Given the description of an element on the screen output the (x, y) to click on. 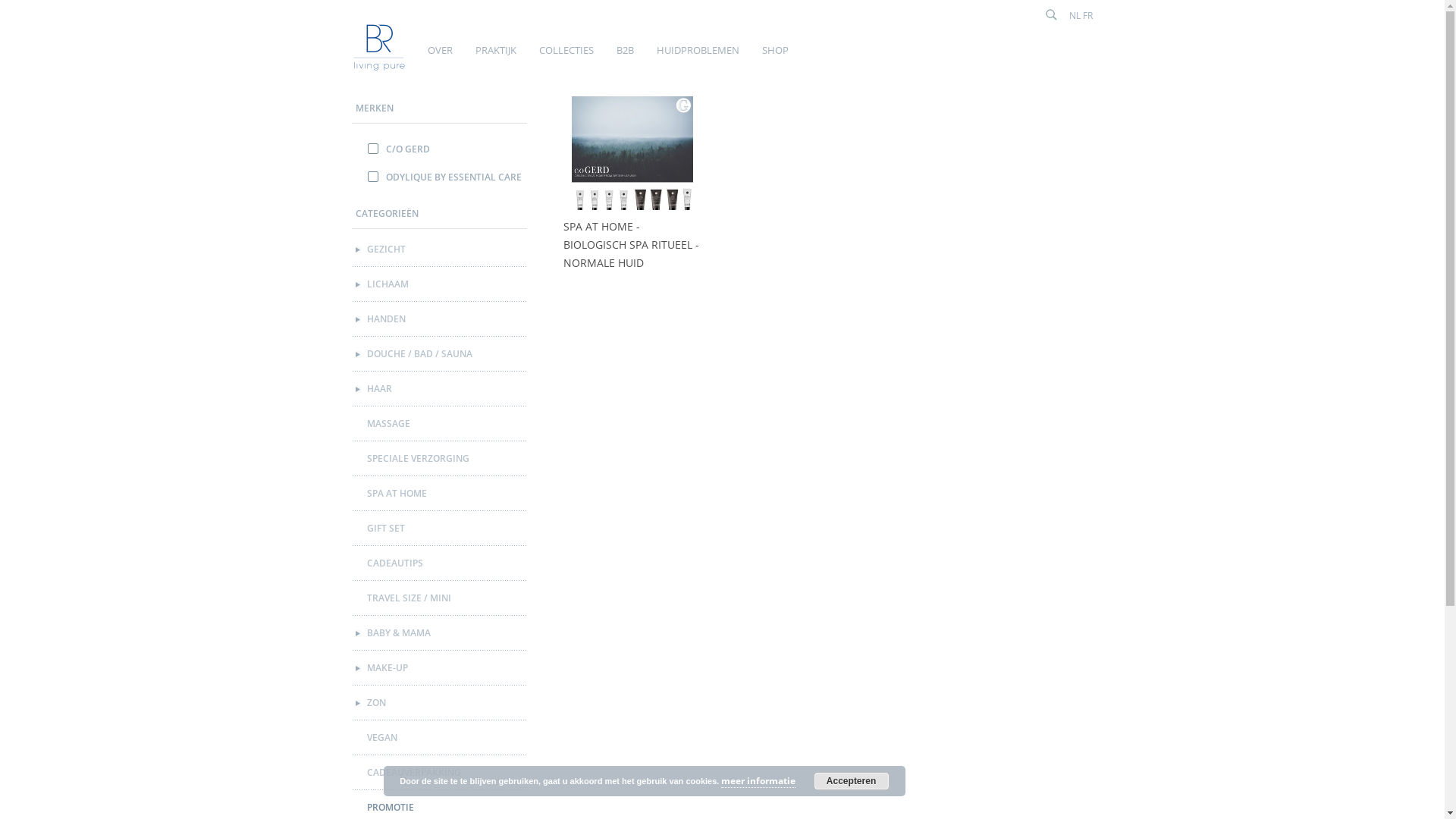
B2B Element type: text (622, 57)
COLLECTIES Element type: text (563, 57)
MAKE-UP Element type: text (440, 667)
CADEAUVERPAKKING Element type: text (440, 772)
ZON Element type: text (440, 702)
MASSAGE Element type: text (440, 423)
VEGAN Element type: text (440, 737)
GIFT SET Element type: text (440, 528)
HUIDPROBLEMEN Element type: text (695, 57)
TRAVEL SIZE / MINI Element type: text (440, 597)
NL Element type: text (1074, 15)
SPECIALE VERZORGING Element type: text (440, 458)
HANDEN Element type: text (440, 318)
OVER Element type: text (437, 57)
BABY & MAMA Element type: text (440, 632)
LICHAAM Element type: text (440, 283)
PRAKTIJK Element type: text (493, 57)
CADEAUTIPS Element type: text (440, 562)
DOUCHE / BAD / SAUNA Element type: text (440, 353)
Bekijk een grotere afbeelding  Element type: hover (632, 156)
FR Element type: text (1087, 15)
SPA AT HOME Element type: text (440, 493)
SHOP Element type: text (772, 57)
HAAR Element type: text (440, 388)
meer informatie Element type: text (758, 780)
PROMOTIE Element type: text (440, 807)
Accepteren Element type: text (851, 780)
GEZICHT Element type: text (440, 249)
SPA AT HOME - BIOLOGISCH SPA RITUEEL - NORMALE HUID Element type: text (631, 244)
